Given the description of an element on the screen output the (x, y) to click on. 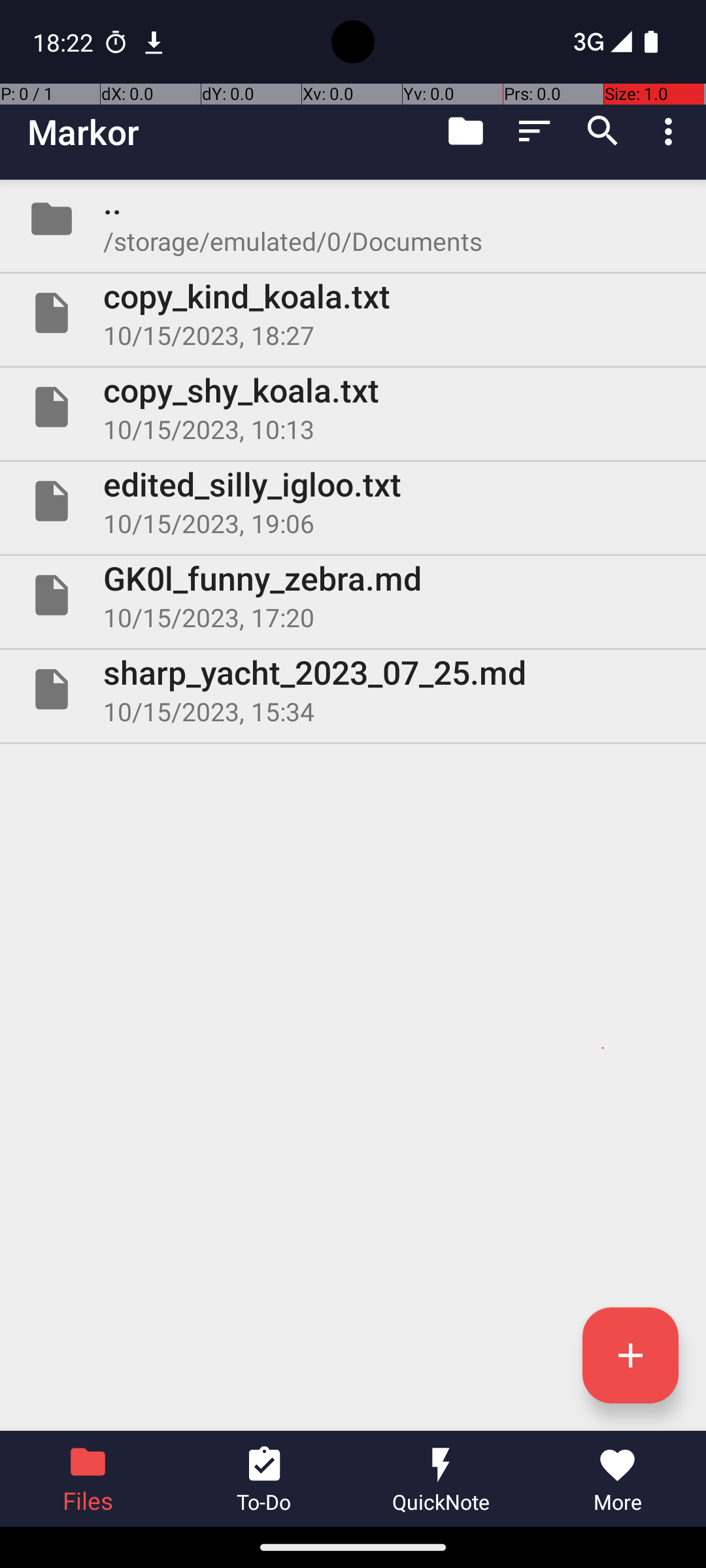
File copy_kind_koala.txt  Element type: android.widget.LinearLayout (353, 312)
File copy_shy_koala.txt  Element type: android.widget.LinearLayout (353, 406)
File edited_silly_igloo.txt  Element type: android.widget.LinearLayout (353, 500)
File GK0l_funny_zebra.md  Element type: android.widget.LinearLayout (353, 594)
File sharp_yacht_2023_07_25.md  Element type: android.widget.LinearLayout (353, 689)
18:22 Element type: android.widget.TextView (64, 41)
